Given the description of an element on the screen output the (x, y) to click on. 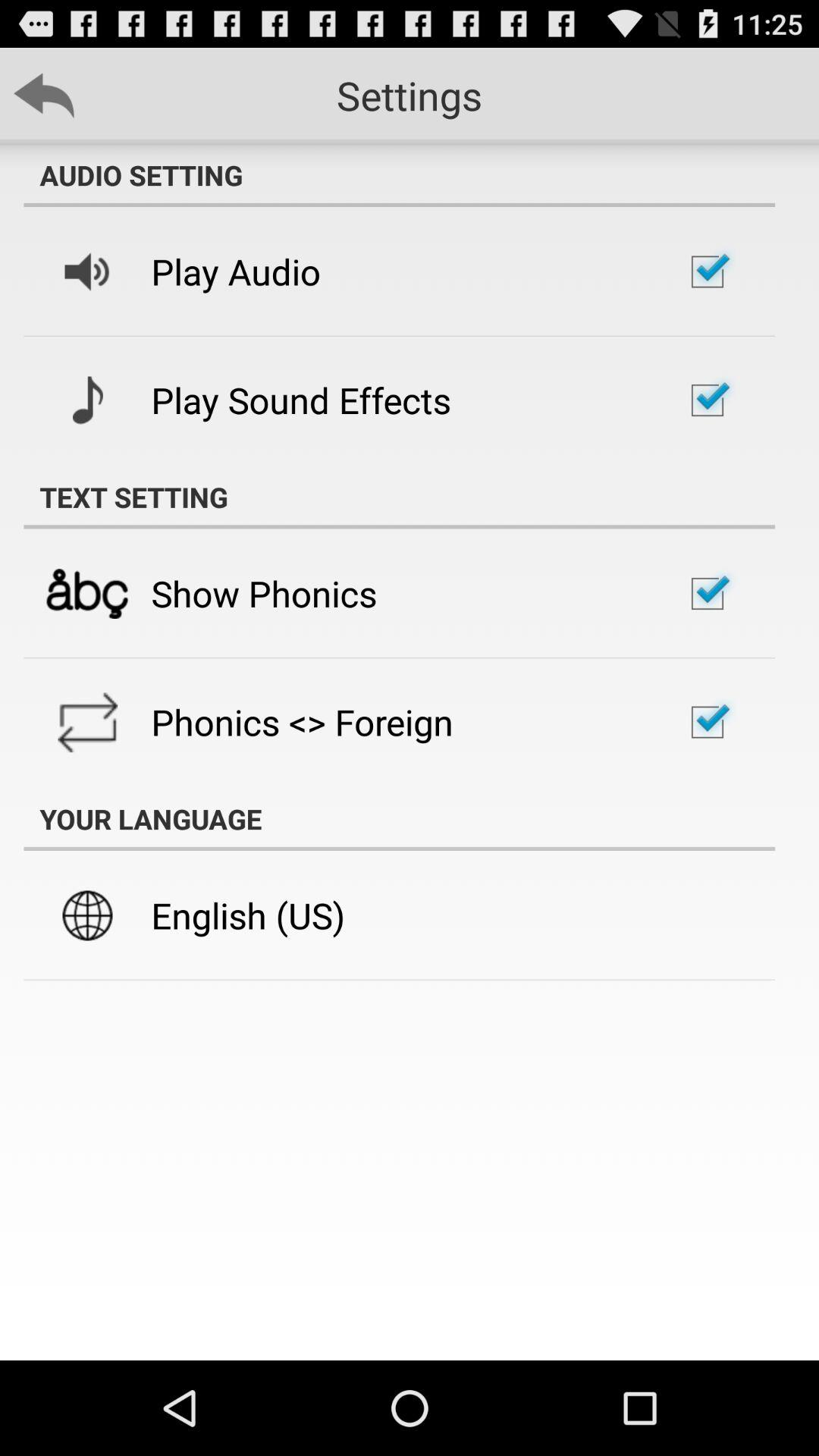
click the play audio (235, 271)
